Given the description of an element on the screen output the (x, y) to click on. 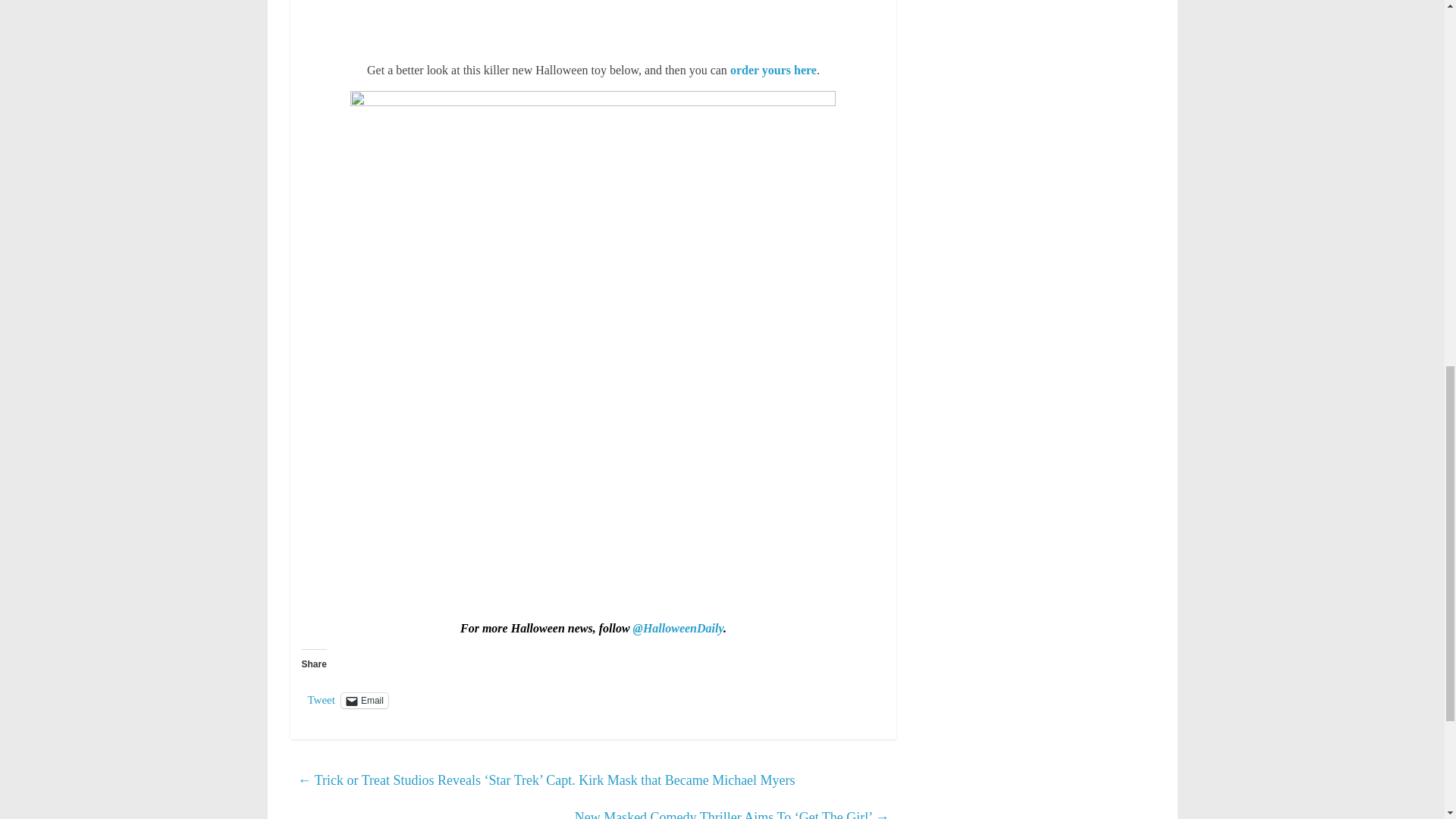
Email (364, 700)
Click to email a link to a friend (364, 700)
order yours here (773, 69)
Tweet (320, 699)
